Given the description of an element on the screen output the (x, y) to click on. 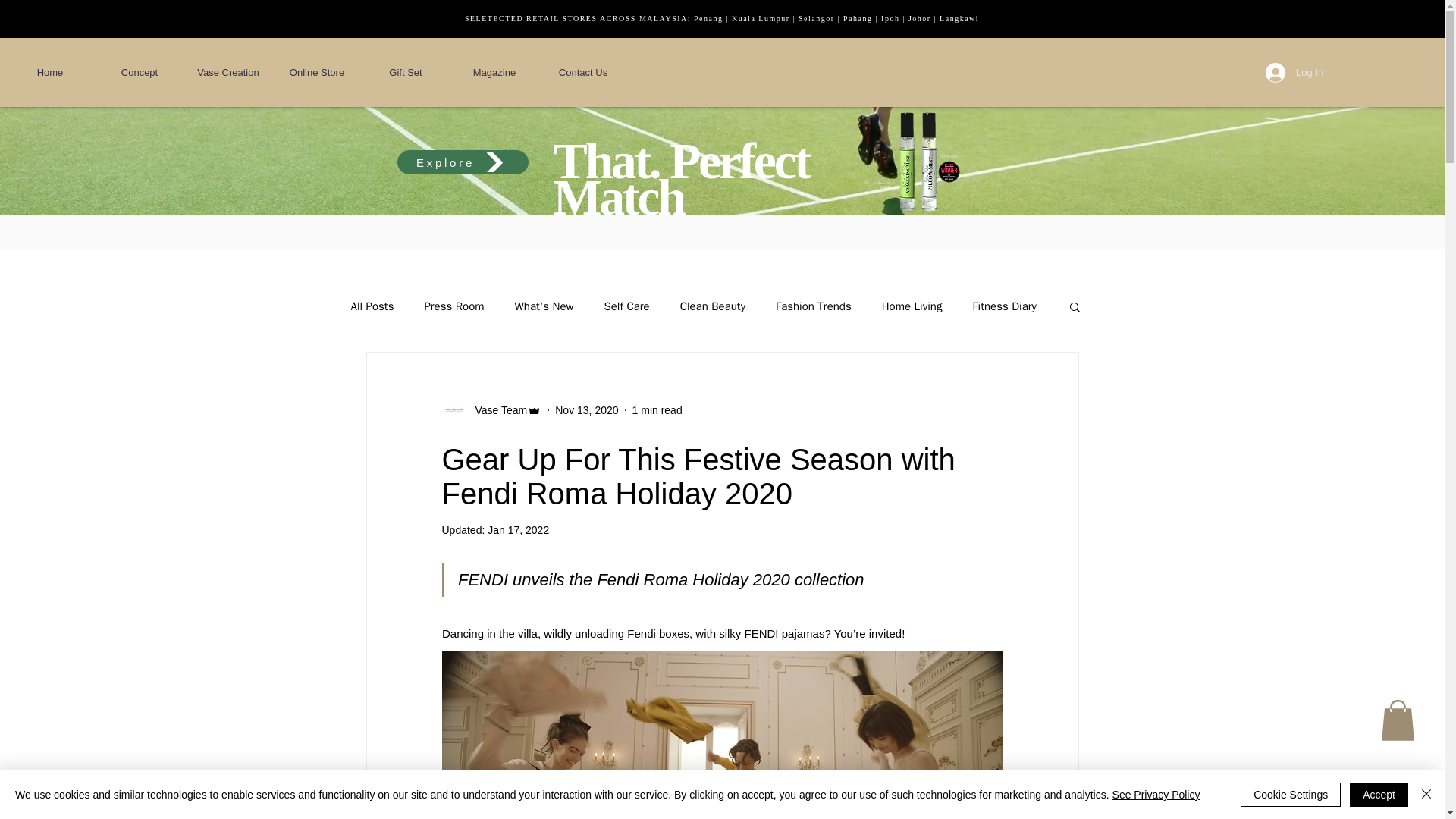
Log In (1294, 72)
Gift Set (405, 72)
Nov 13, 2020 (585, 410)
Press Room (453, 306)
Home Living (912, 306)
Self Care (626, 306)
Clean Beauty (712, 306)
Jan 17, 2022 (517, 530)
Vase Team (496, 410)
1 min read (656, 410)
